Given the description of an element on the screen output the (x, y) to click on. 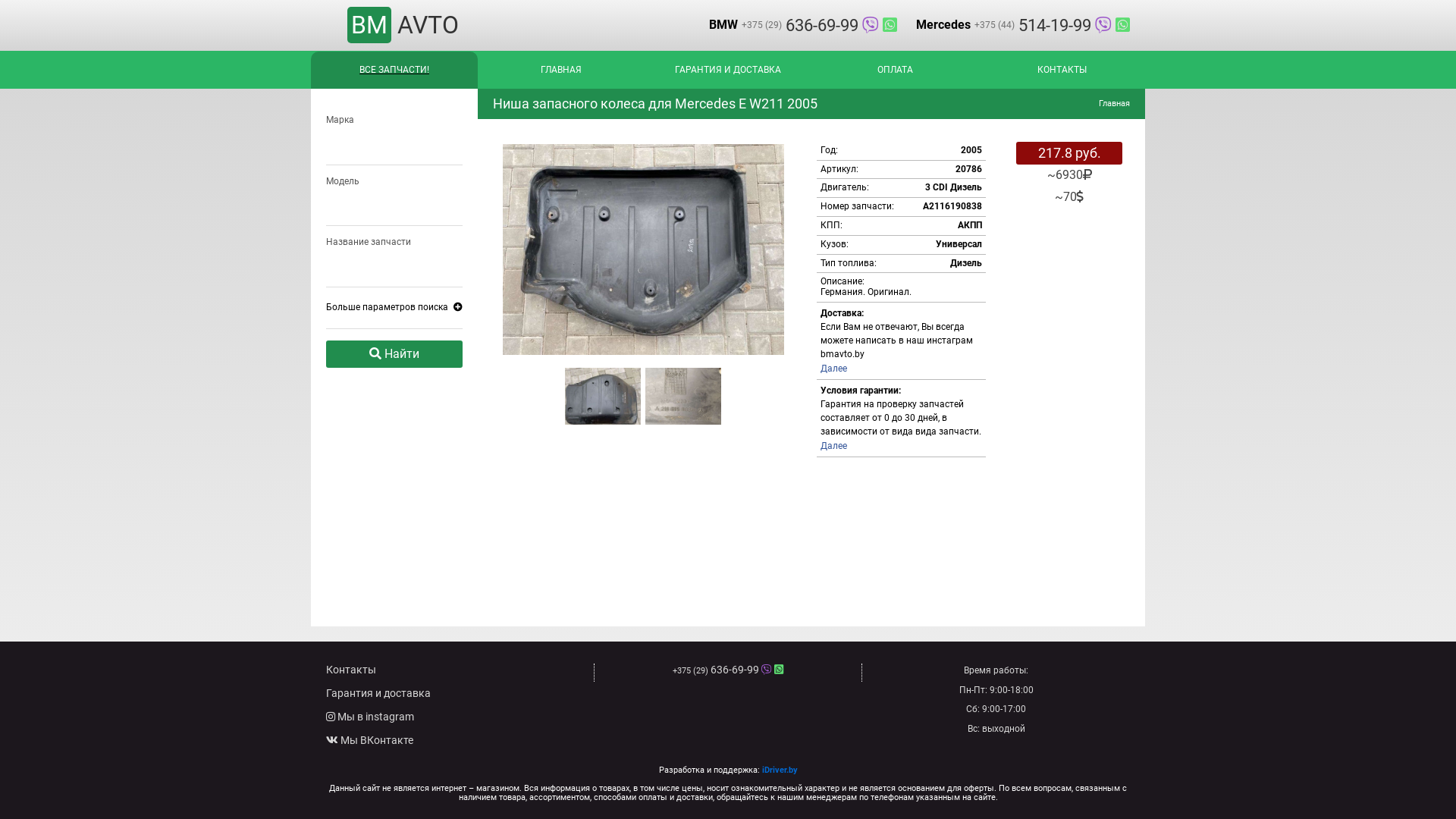
iDriver.by Element type: text (779, 770)
BM AVTO Element type: text (401, 24)
+375 (29)
636-69-99 Element type: text (817, 25)
+375 (29) 636-69-99 Element type: text (727, 669)
+375 (44)
514-19-99 Element type: text (1049, 25)
